Given the description of an element on the screen output the (x, y) to click on. 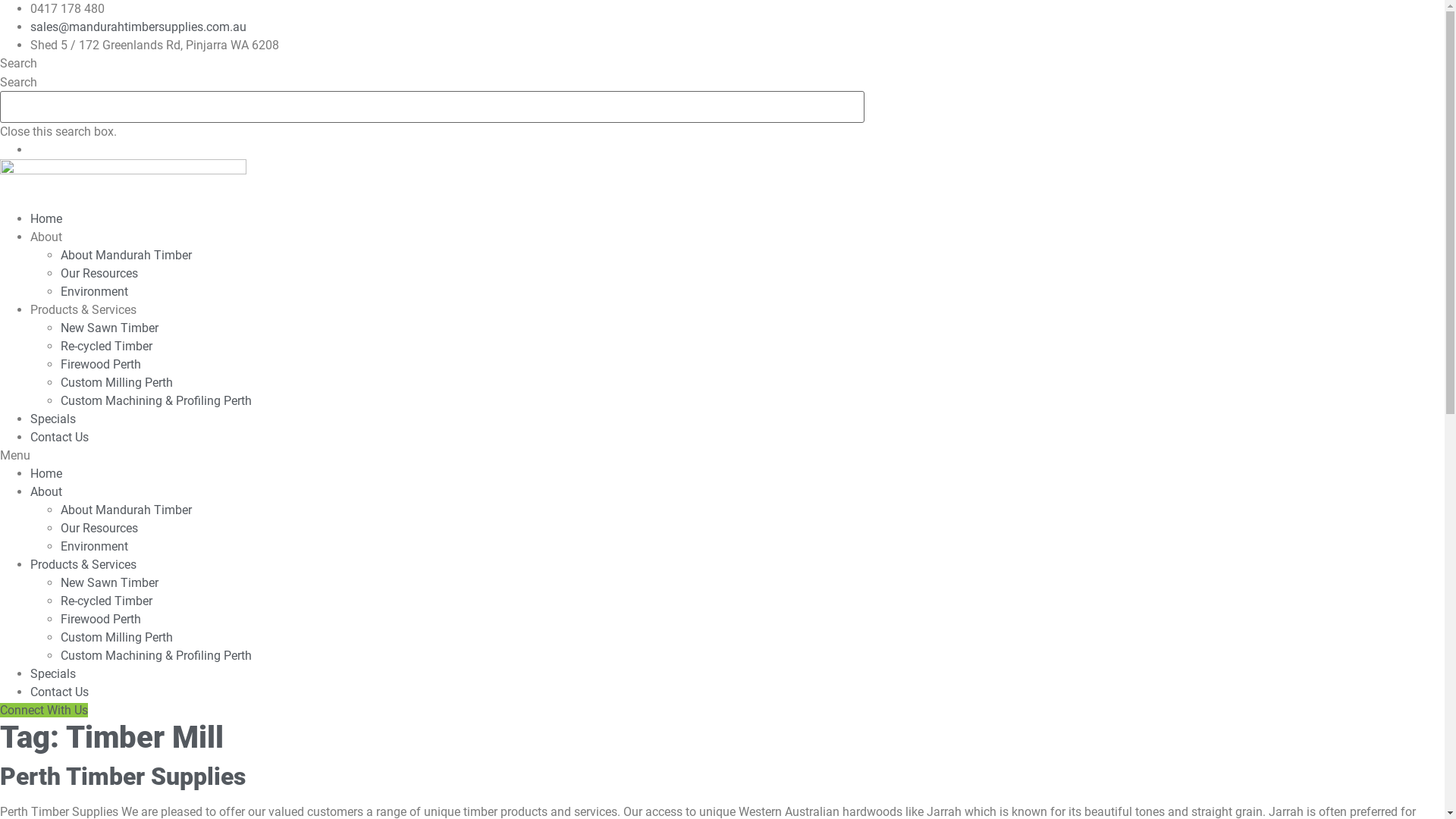
Home Element type: text (46, 473)
sales@mandurahtimbersupplies.com.au Element type: text (138, 26)
Products & Services Element type: text (83, 309)
Contact Us Element type: text (59, 436)
About Element type: text (46, 236)
Environment Element type: text (94, 291)
Custom Milling Perth Element type: text (116, 382)
Custom Milling Perth Element type: text (116, 637)
New Sawn Timber Element type: text (109, 327)
Re-cycled Timber Element type: text (106, 600)
Perth Timber Supplies Element type: text (122, 776)
Custom Machining & Profiling Perth Element type: text (155, 655)
About Element type: text (46, 491)
Specials Element type: text (52, 673)
About Mandurah Timber Element type: text (125, 509)
Re-cycled Timber Element type: text (106, 345)
Connect With Us Element type: text (43, 709)
Custom Machining & Profiling Perth Element type: text (155, 400)
Environment Element type: text (94, 546)
Firewood Perth Element type: text (100, 618)
Firewood Perth Element type: text (100, 364)
Home Element type: text (46, 218)
New Sawn Timber Element type: text (109, 582)
Our Resources Element type: text (99, 273)
Specials Element type: text (52, 418)
Products & Services Element type: text (83, 564)
Contact Us Element type: text (59, 691)
Our Resources Element type: text (99, 527)
About Mandurah Timber Element type: text (125, 254)
